Given the description of an element on the screen output the (x, y) to click on. 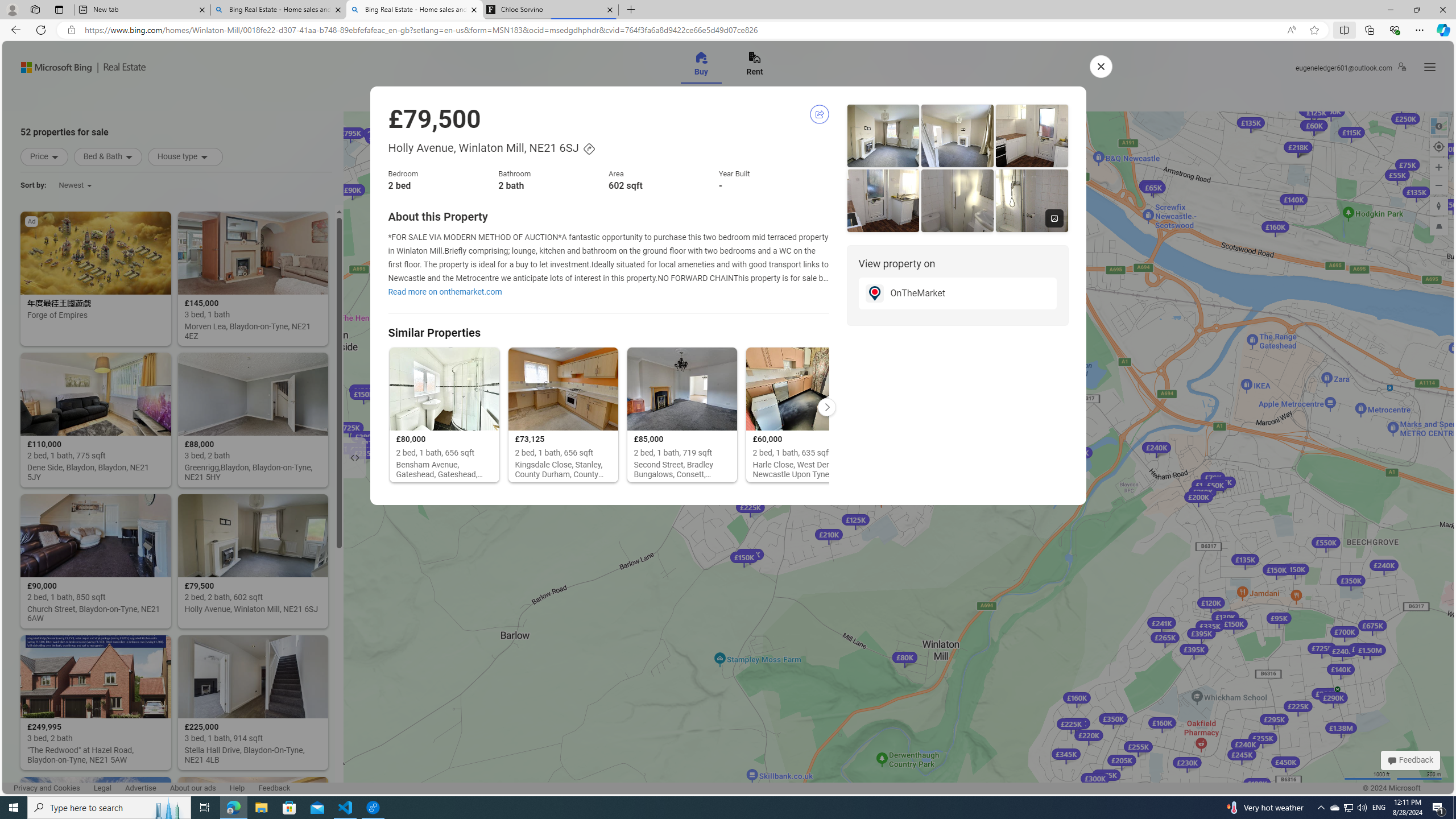
Chloe Sorvino (550, 9)
